Given the description of an element on the screen output the (x, y) to click on. 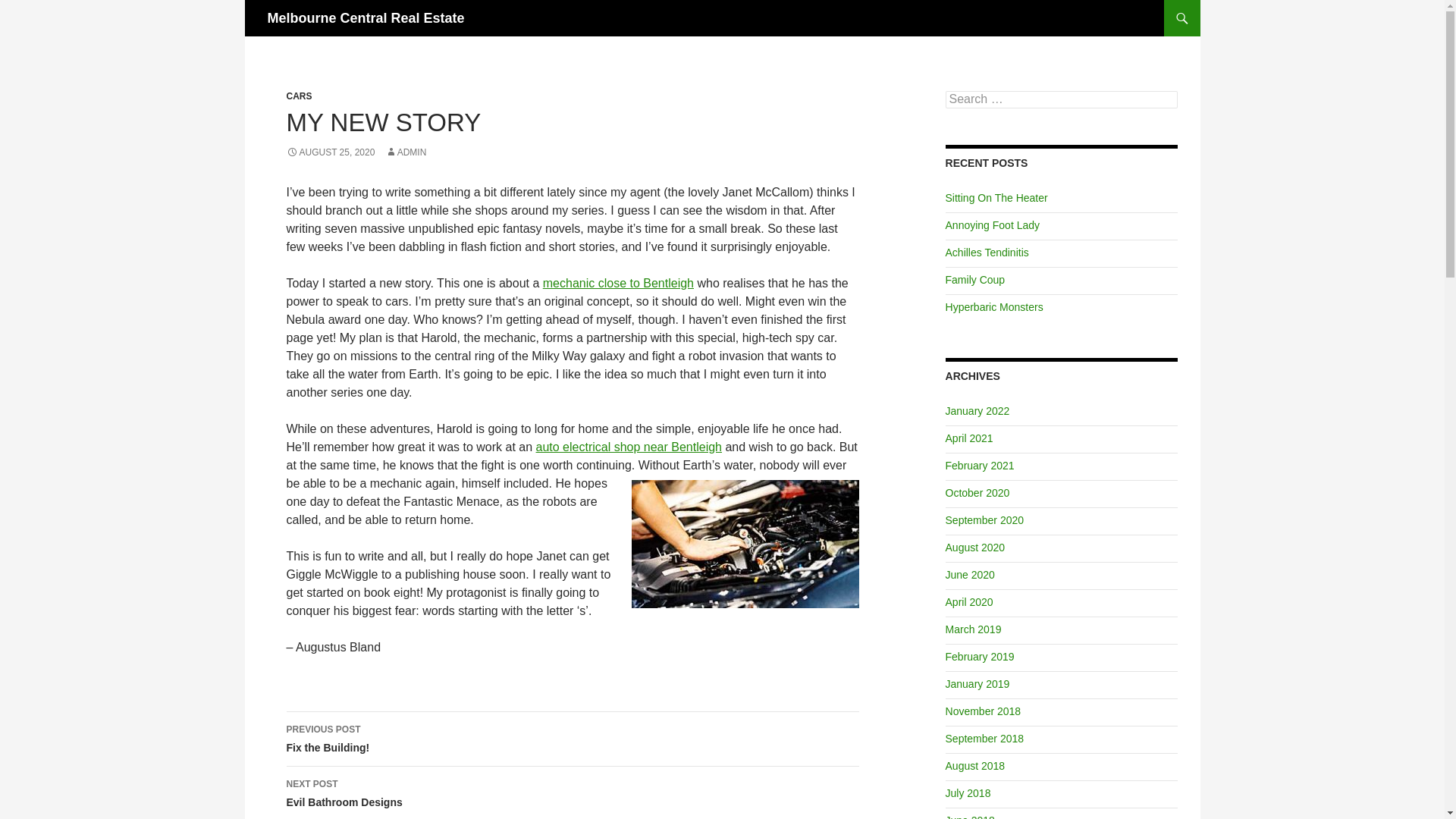
February 2019 (979, 656)
January 2022 (977, 410)
Hyperbaric Monsters (993, 306)
September 2020 (984, 520)
November 2018 (983, 711)
CARS (299, 95)
Achilles Tendinitis (986, 252)
Search (572, 738)
January 2019 (330, 152)
September 2018 (977, 684)
June 2020 (984, 738)
April 2020 (969, 574)
